Given the description of an element on the screen output the (x, y) to click on. 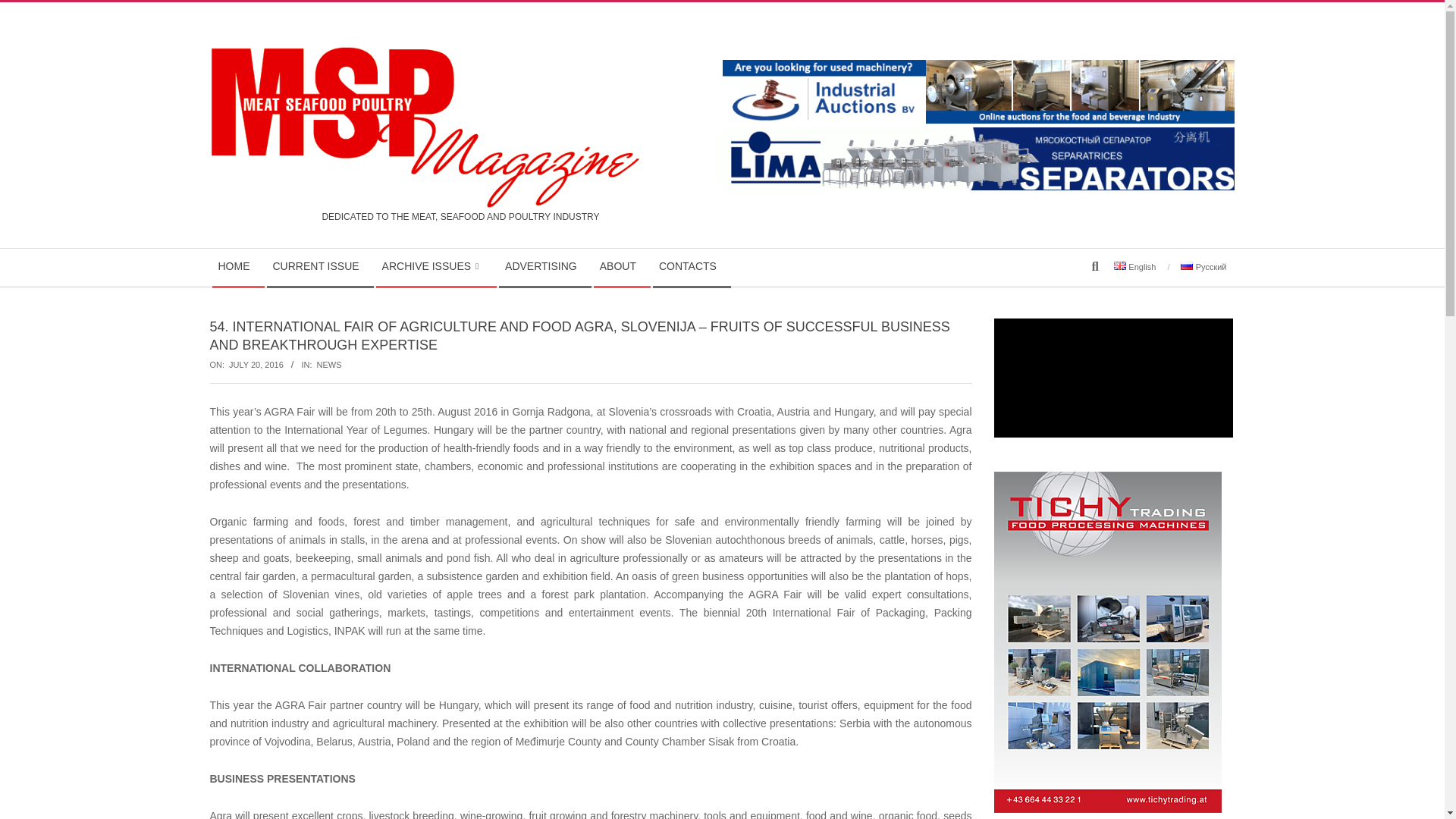
ARCHIVE ISSUES (435, 266)
CURRENT ISSUE (319, 266)
Wednesday, July 20, 2016, 10:34 pm (255, 364)
HOME (237, 266)
